Given the description of an element on the screen output the (x, y) to click on. 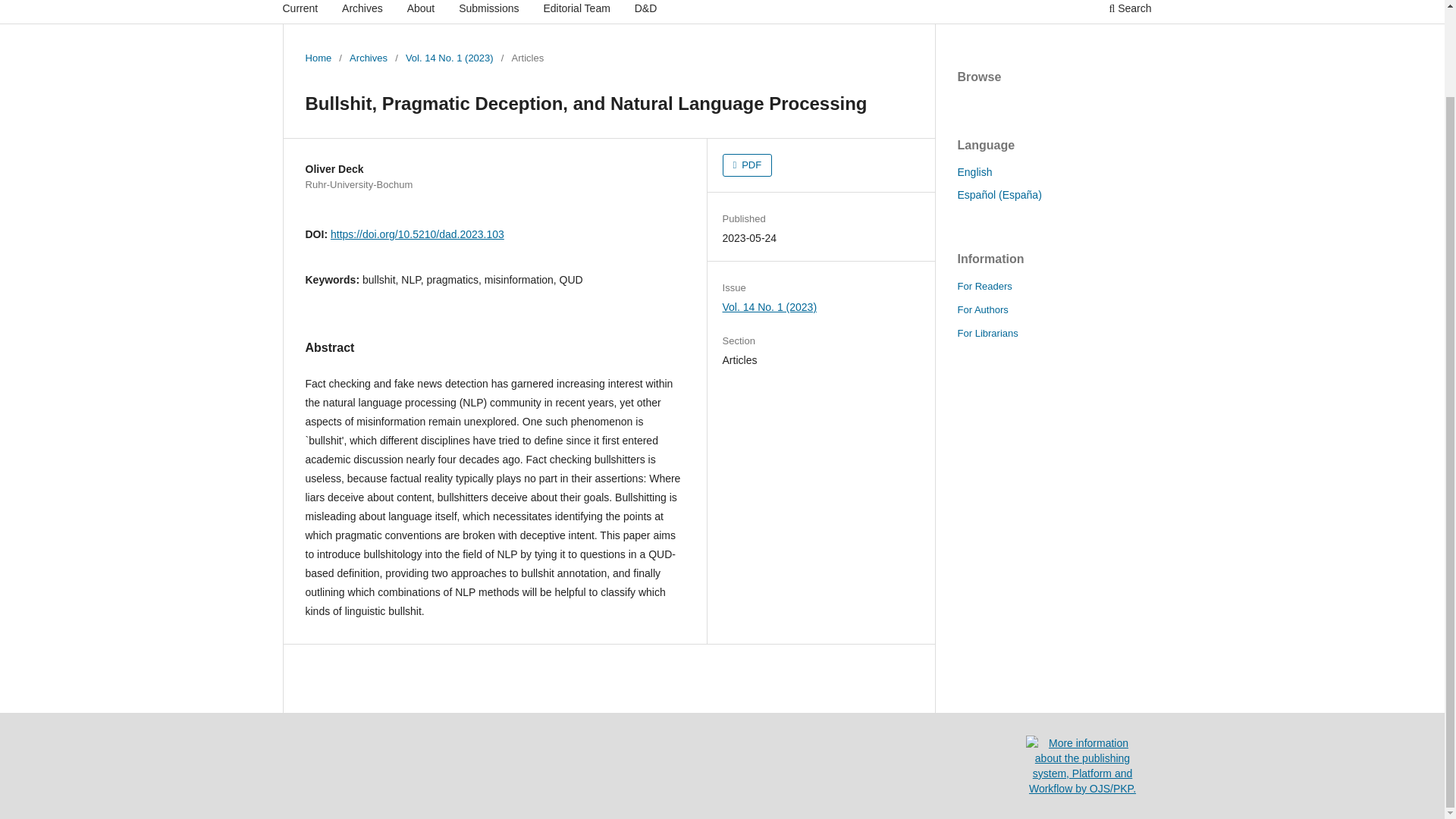
Archives (362, 11)
For Authors (981, 309)
For Librarians (986, 333)
About (421, 11)
Archives (368, 58)
Submissions (488, 11)
Editorial Team (575, 11)
PDF (747, 164)
Current (300, 11)
Search (1129, 11)
